Given the description of an element on the screen output the (x, y) to click on. 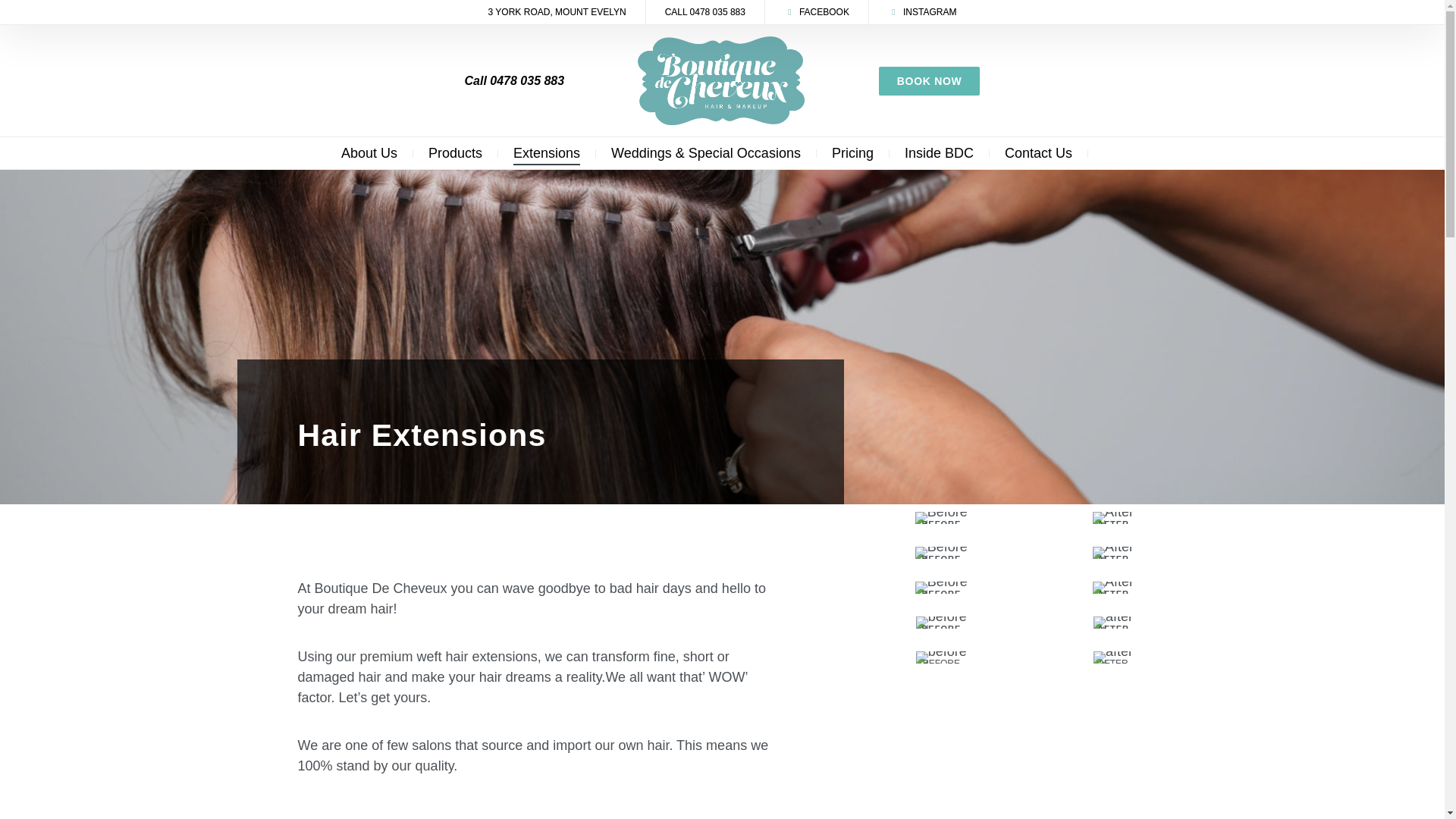
About Us (368, 152)
BOOK NOW (929, 80)
FACEBOOK (816, 11)
Products (454, 152)
Contact Us (1037, 152)
Pricing (852, 152)
Inside BDC (939, 152)
Extensions (546, 152)
INSTAGRAM (922, 11)
CALL 0478 035 883 (705, 11)
